Given the description of an element on the screen output the (x, y) to click on. 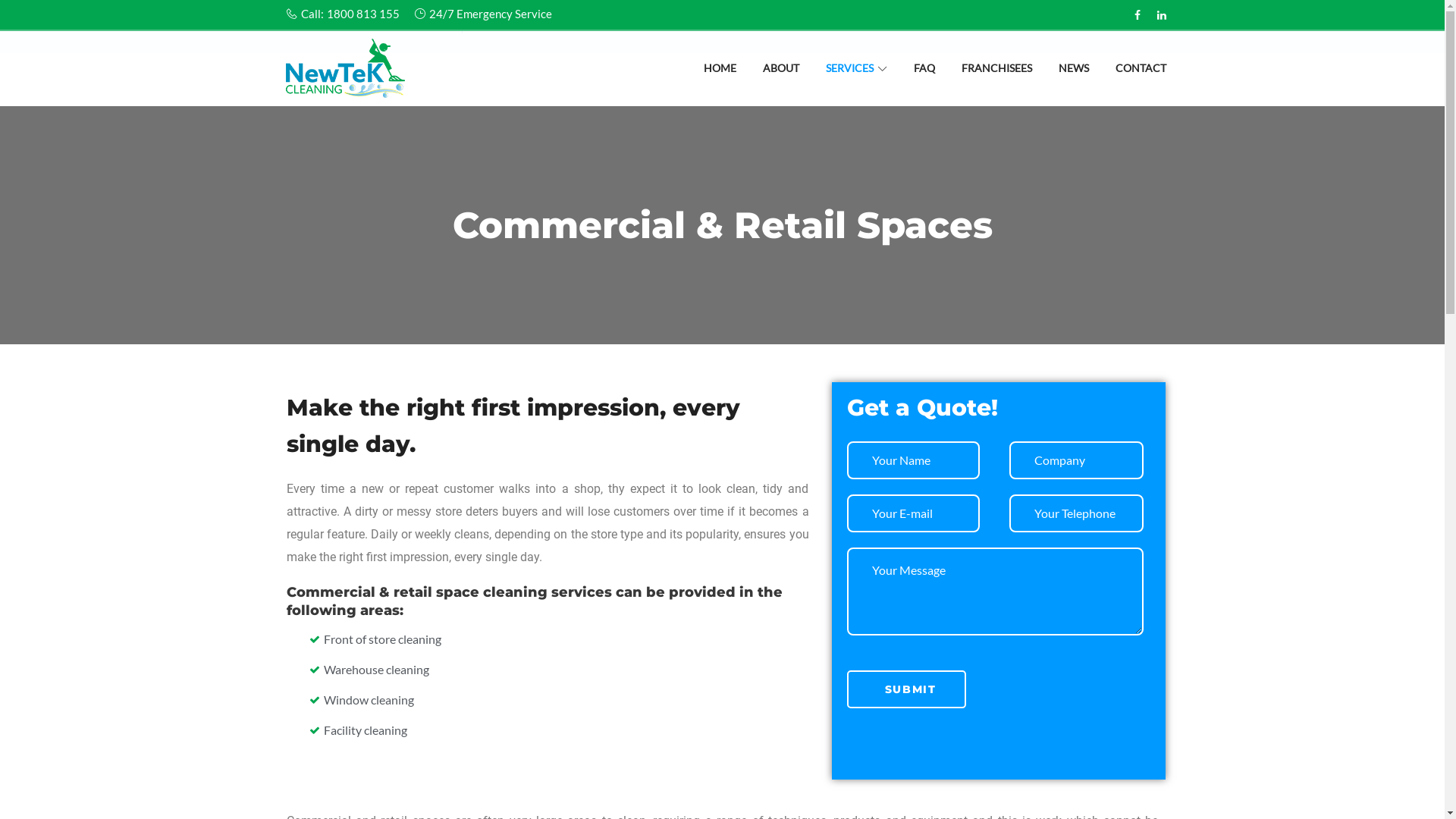
HOME Element type: text (719, 76)
Services Element type: text (333, 27)
FRANCHISEES Element type: text (996, 76)
SERVICES Element type: text (855, 76)
FAQ Element type: text (923, 76)
1800 813 155 Element type: text (362, 13)
Submit Element type: text (905, 689)
Home Element type: text (293, 27)
ABOUT Element type: text (780, 76)
CONTACT Element type: text (1139, 76)
NEWS Element type: text (1073, 76)
